Given the description of an element on the screen output the (x, y) to click on. 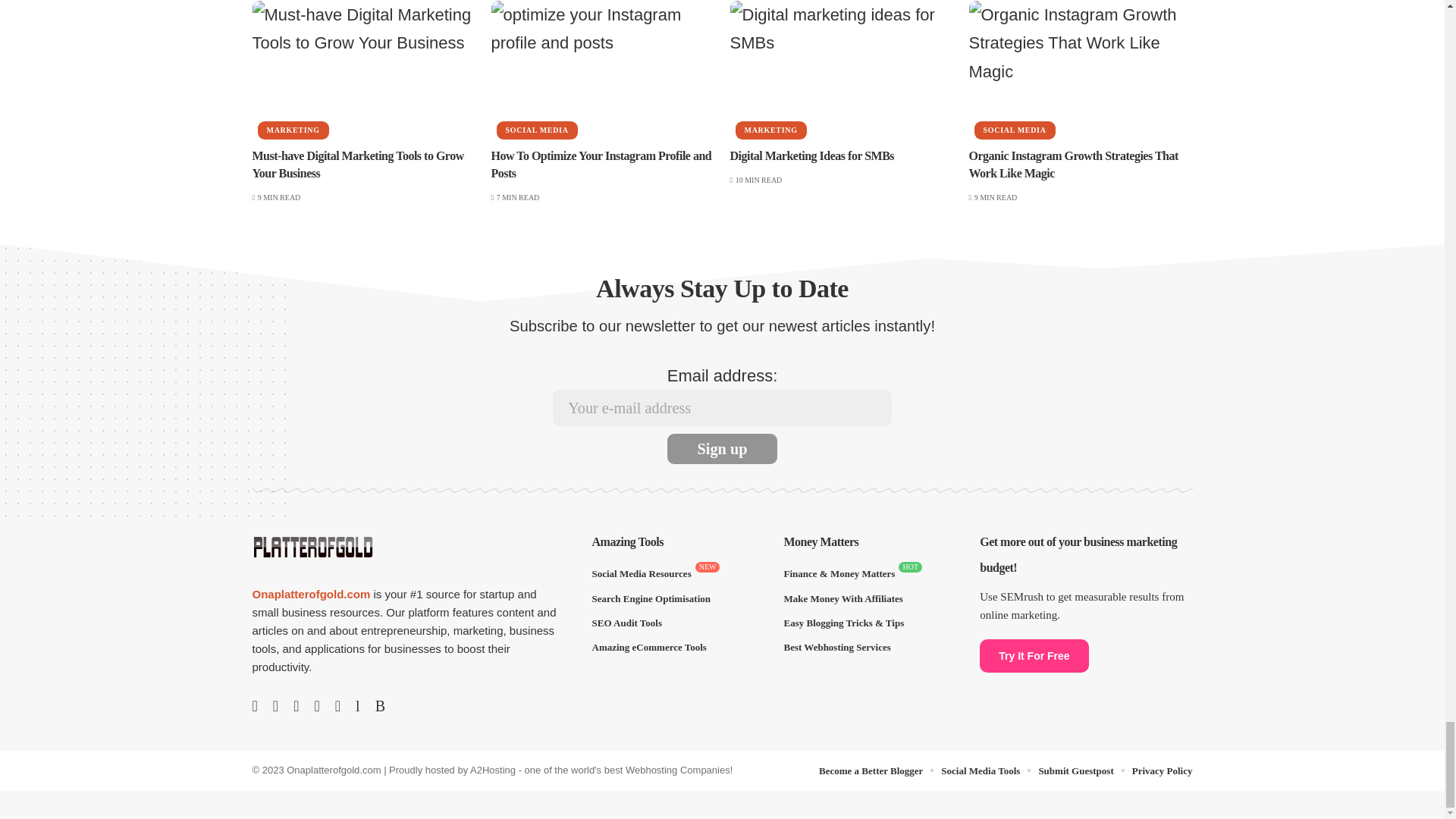
Sign up (721, 449)
